Given the description of an element on the screen output the (x, y) to click on. 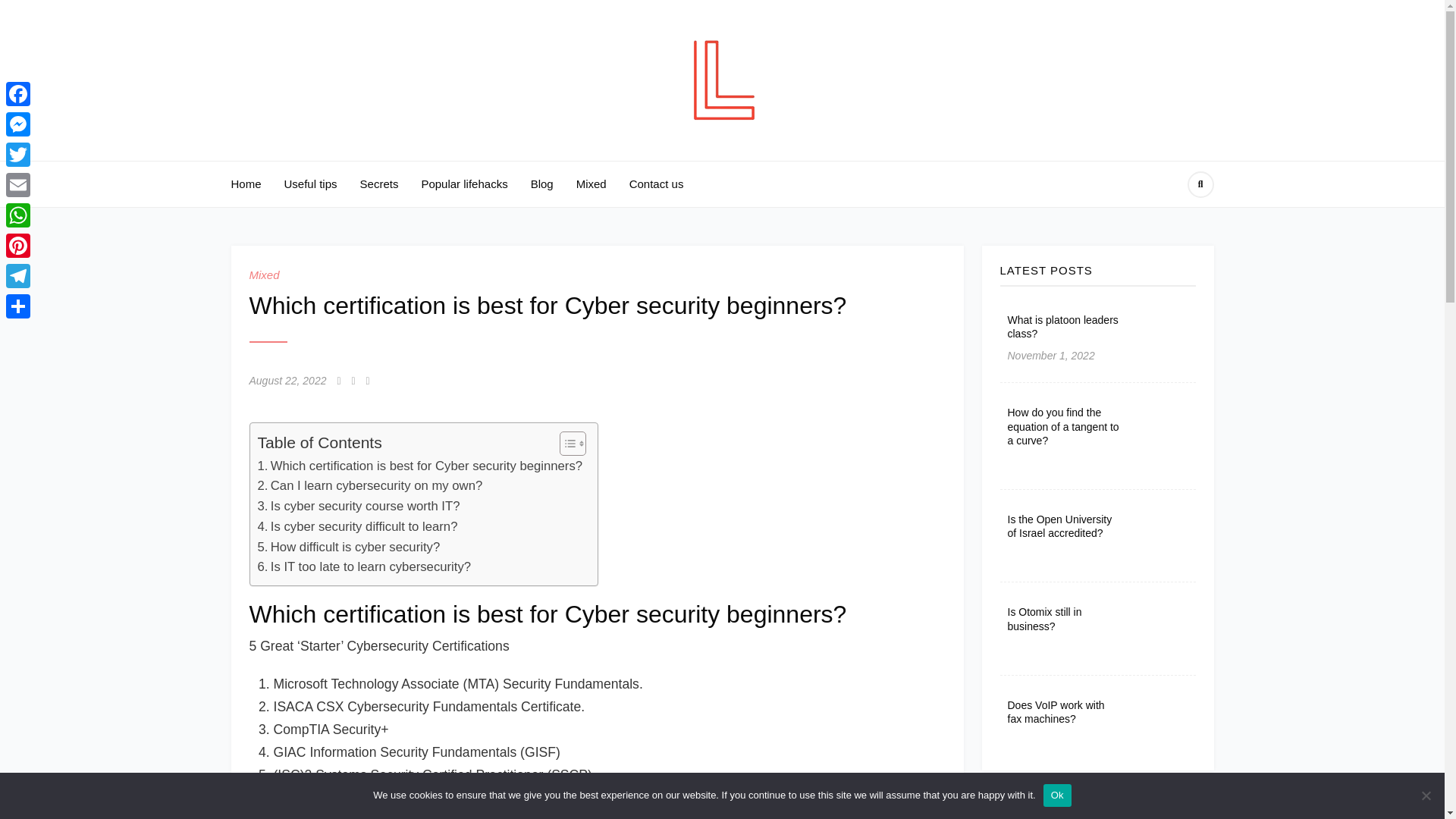
Pinterest (17, 245)
Is cyber security course worth IT? (358, 506)
Which certification is best for Cyber security beginners? (420, 466)
August 22, 2022 (287, 380)
WhatsApp (17, 214)
Is cyber security course worth IT? (358, 506)
Facebook (17, 93)
Useful tips (310, 184)
Is cyber security difficult to learn? (357, 526)
Is IT too late to learn cybersecurity? (364, 567)
Is cyber security difficult to learn? (357, 526)
Messenger (17, 123)
How difficult is cyber security? (349, 547)
How difficult is cyber security? (349, 547)
Which certification is best for Cyber security beginners? (420, 466)
